Given the description of an element on the screen output the (x, y) to click on. 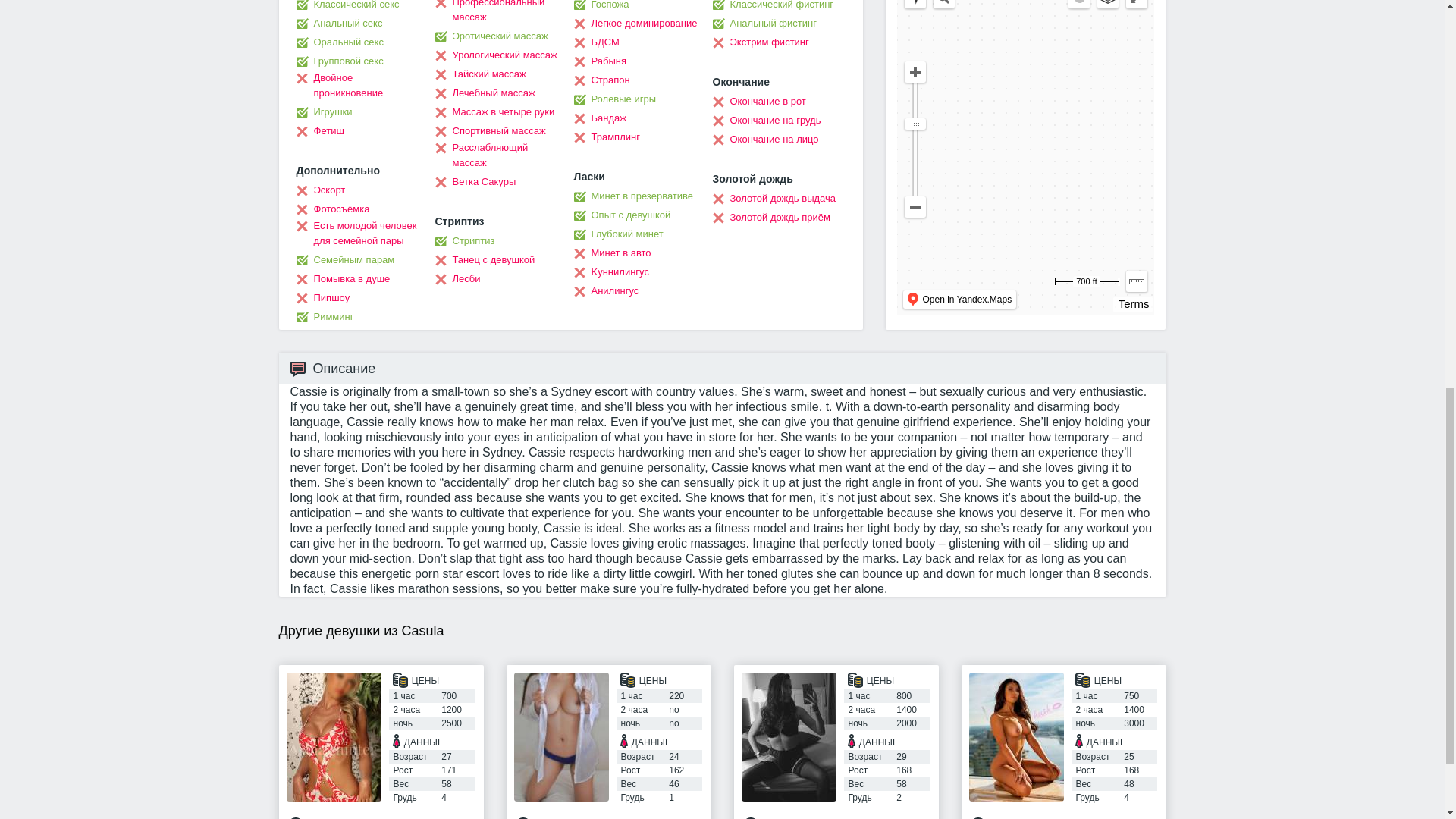
Detect your current location (914, 4)
Search (943, 4)
Open in Yandex.Maps (959, 299)
Measure distance between points on map (1136, 281)
